Given the description of an element on the screen output the (x, y) to click on. 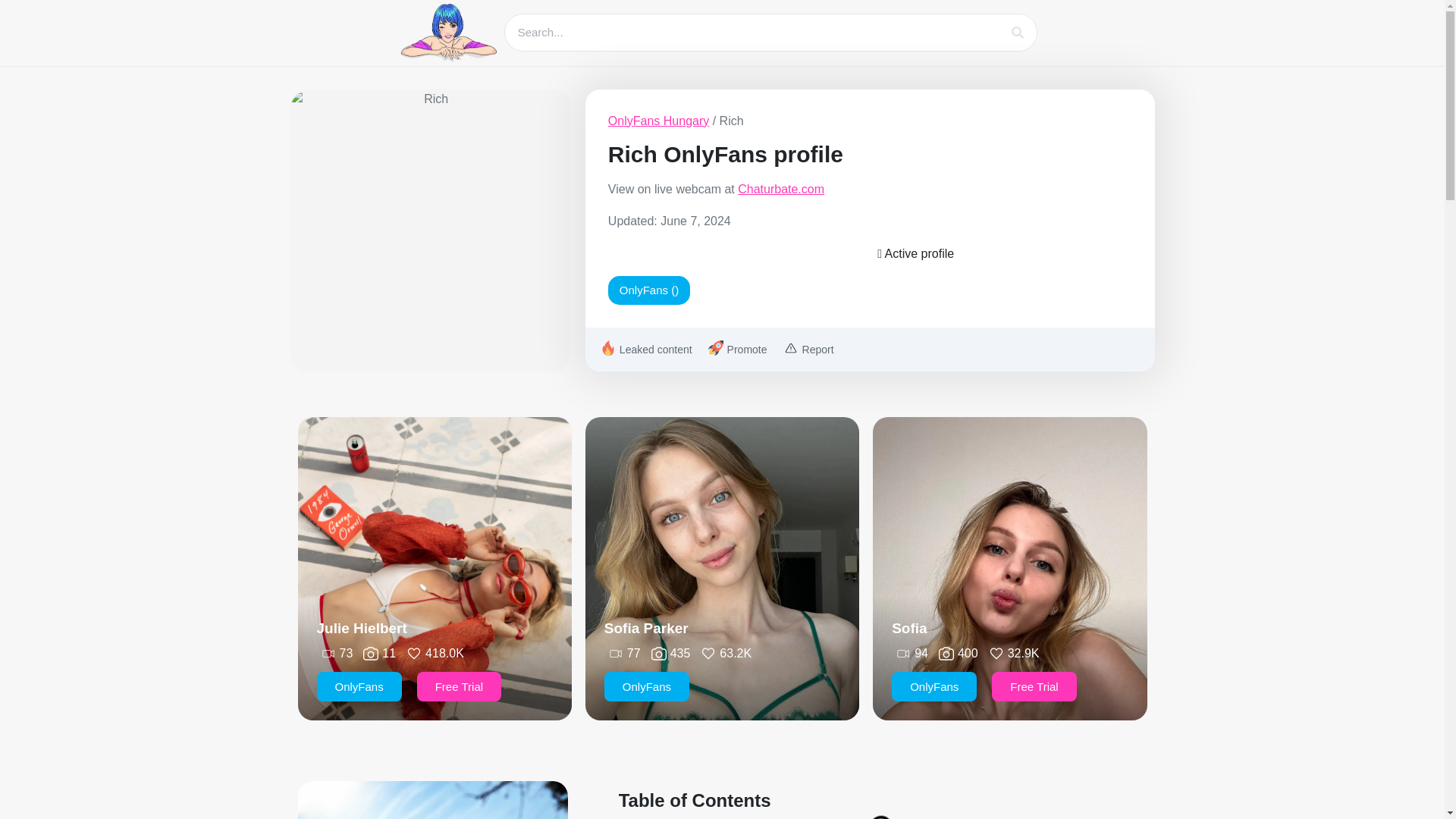
OnlyFans Hungary (658, 120)
OnlyFans Hungary (658, 120)
Rich (429, 230)
Promote (735, 349)
Sofia (908, 627)
Report (806, 349)
OnlyFans (646, 686)
OnlyFans (359, 686)
Leaked content (644, 349)
Free Trial (1033, 686)
Sofia Parker (646, 627)
Julie Hielbert (362, 627)
Chaturbate.com (781, 188)
OnlyFans (933, 686)
Free Trial (458, 686)
